Given the description of an element on the screen output the (x, y) to click on. 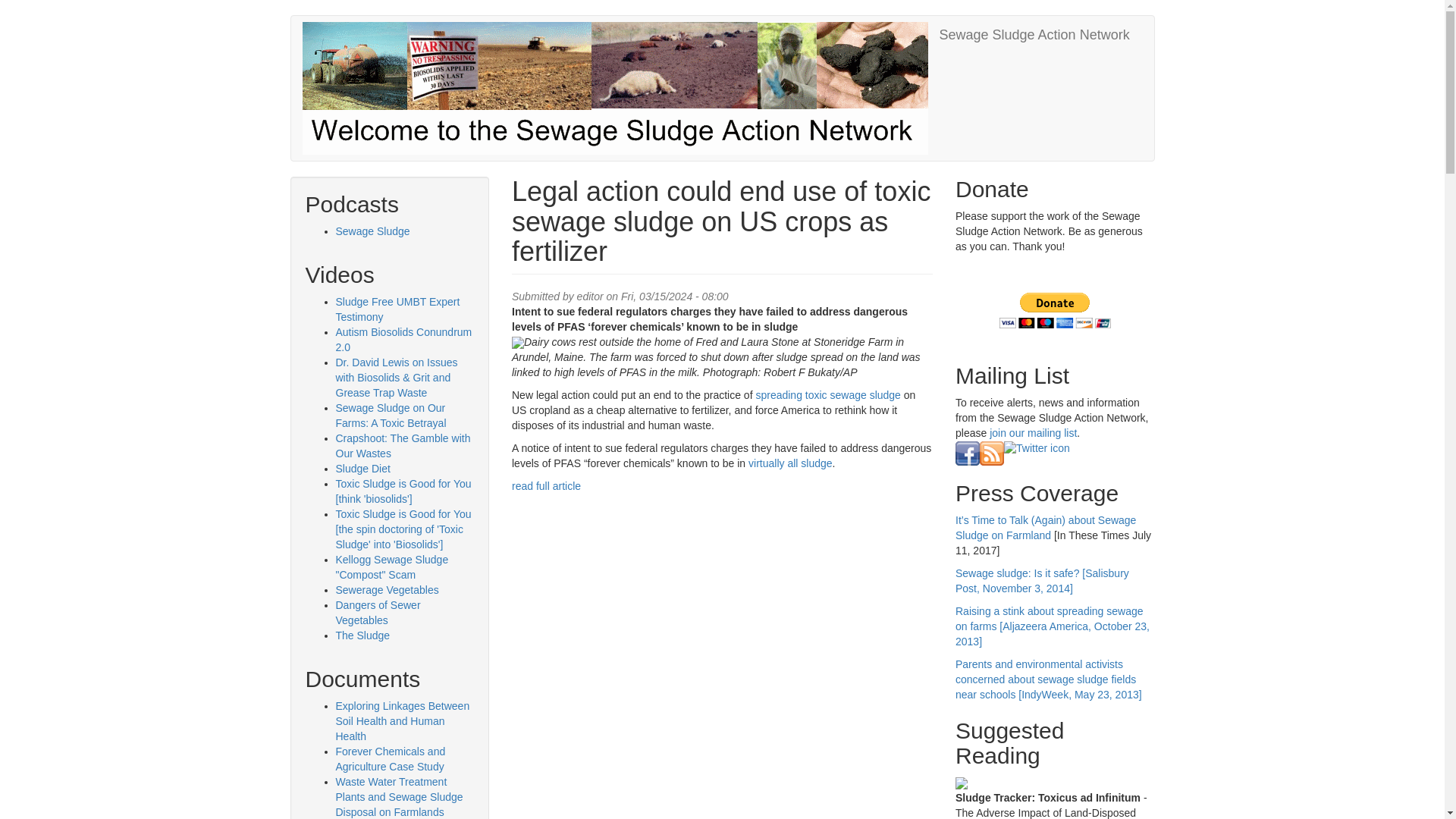
Autism Biosolids Conundrum 2.0 (402, 338)
Dangers of Sewer Vegetables (377, 612)
Home (620, 88)
Subscribe to  via RSS (991, 452)
Visit NoSewagesludge on Twitter (1037, 448)
Sewerage Vegetables (386, 589)
Kellogg Sewage Sludge "Compost" Scam (391, 566)
Sludge Diet (362, 468)
Exploring Linkages Between Soil Health and Human Health (401, 721)
Visit SewageSludge on Facebook (967, 452)
Sewage Sludge Action Network (1034, 34)
Forever Chemicals and Agriculture Case Study (389, 759)
Sewage Sludge on Our Farms: A Toxic Betrayal (389, 415)
Home (1034, 34)
